Given the description of an element on the screen output the (x, y) to click on. 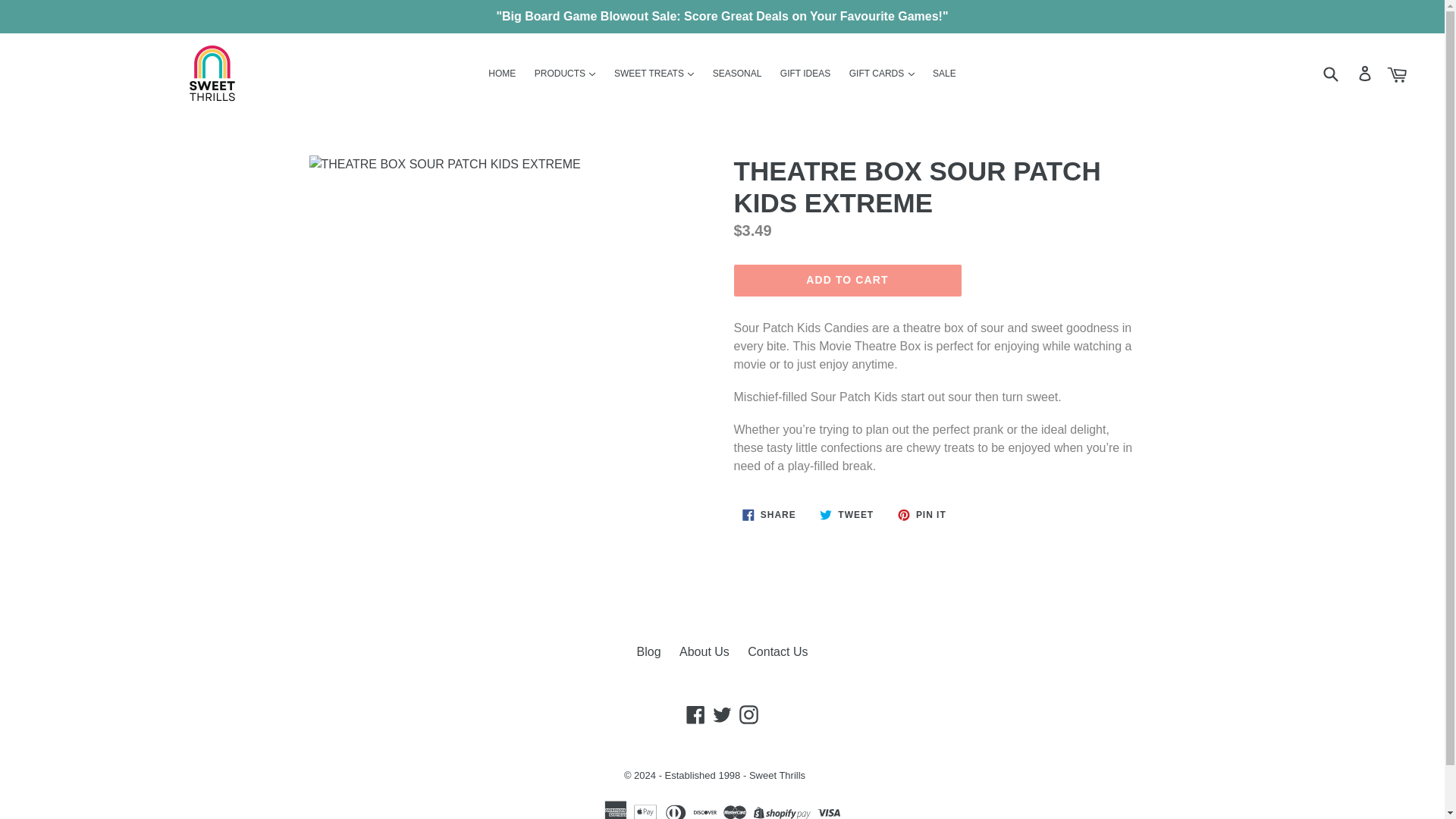
Sweet Thrills on Twitter (721, 714)
Pin on Pinterest (922, 514)
Sweet Thrills on Instagram (748, 714)
Sweet Thrills on Facebook (695, 714)
HOME (501, 73)
Share on Facebook (769, 514)
Tweet on Twitter (846, 514)
